Given the description of an element on the screen output the (x, y) to click on. 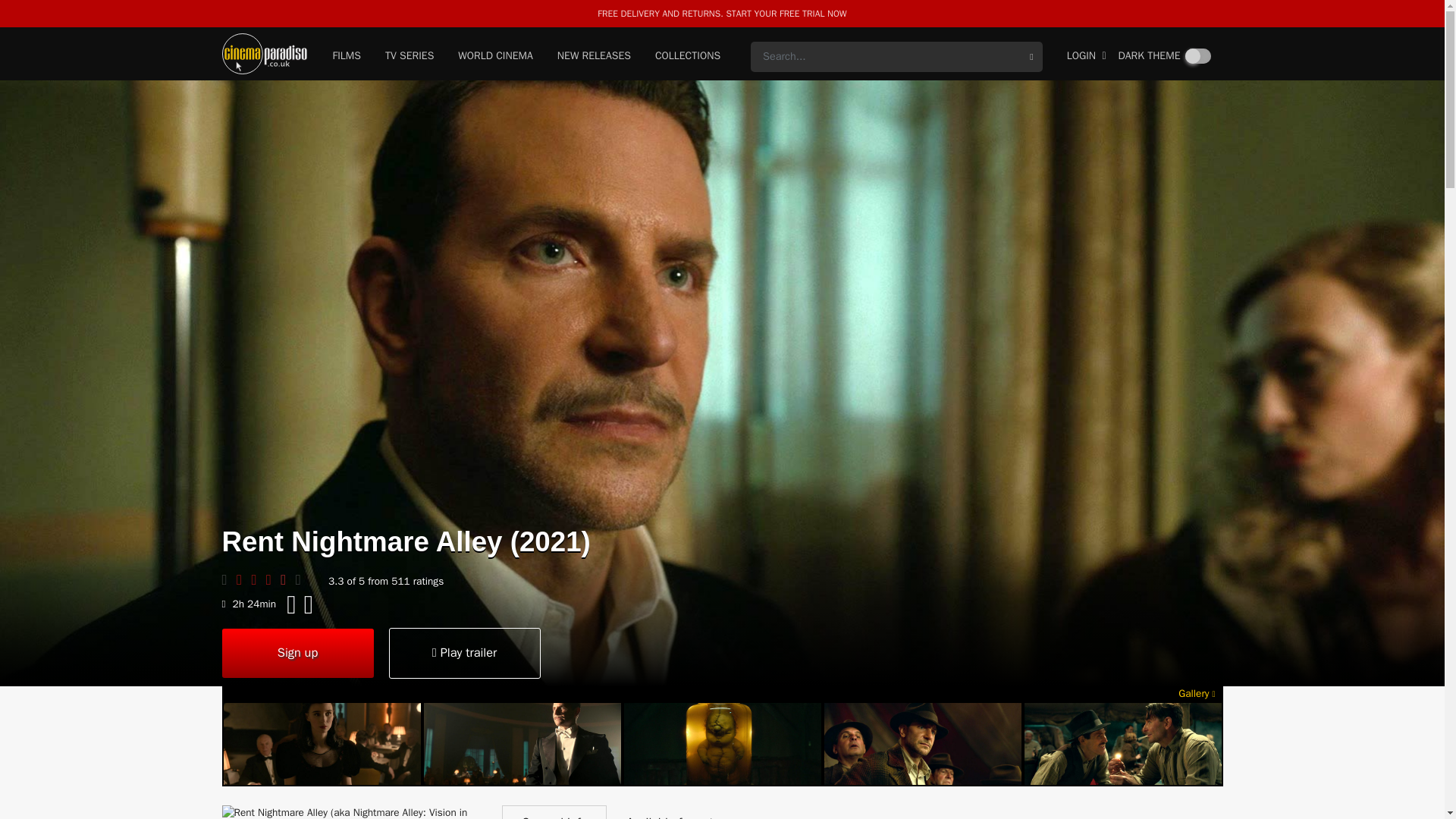
DVD (290, 604)
FREE DELIVERY AND RETURNS. START YOUR FREE TRIAL NOW (720, 13)
Click to rate 'Hated It' (242, 579)
Click to rate 'Loved It' (302, 579)
Click to rate 'Liked It' (273, 579)
FILMS (346, 56)
Click to rate 'Did not Like It' (257, 579)
Not interested (228, 579)
TV SERIES (409, 56)
Click to rate 'Really Liked It' (288, 579)
on (1198, 55)
 Blu-ray (308, 604)
LOGIN  (1086, 56)
